Given the description of an element on the screen output the (x, y) to click on. 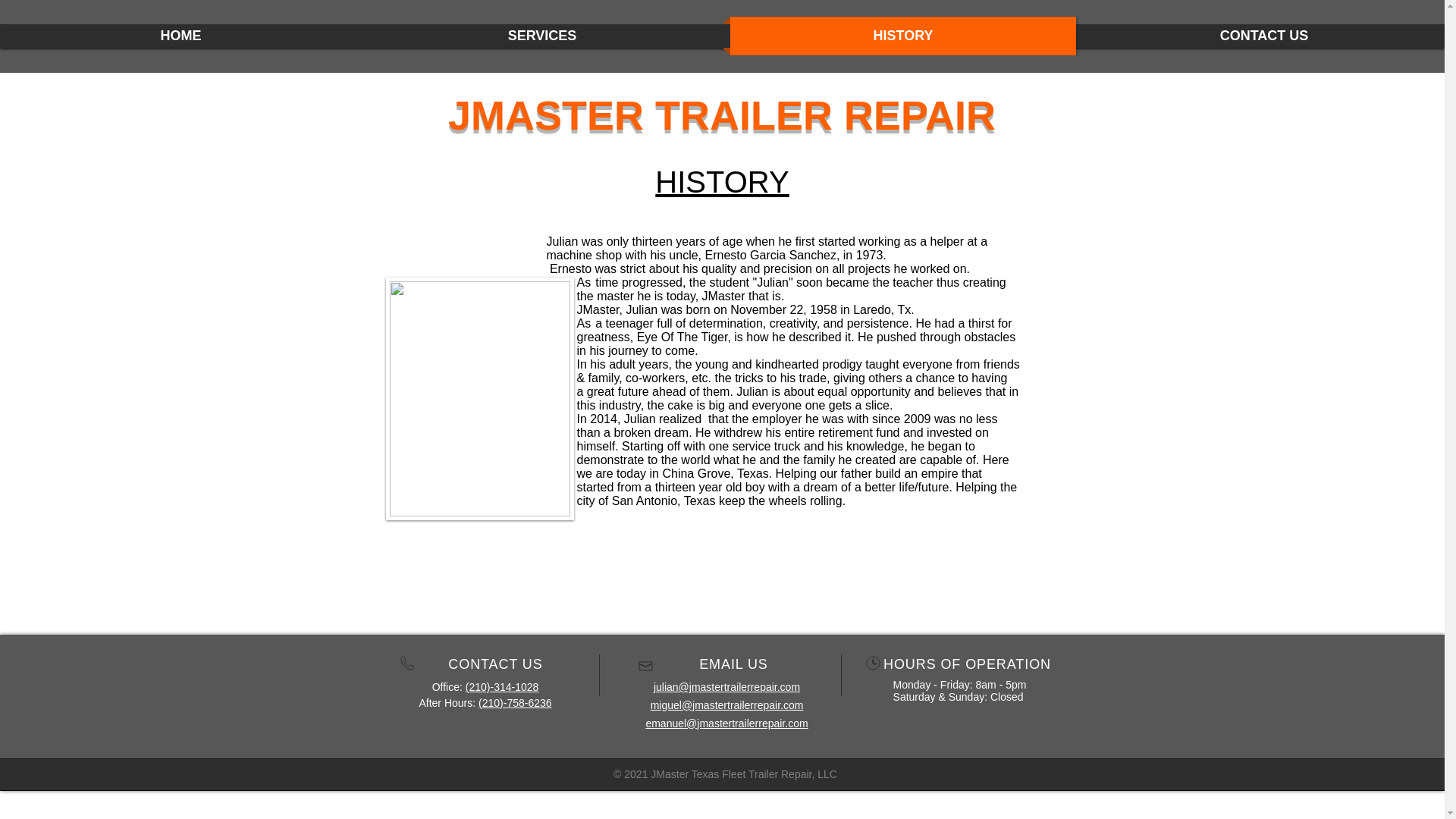
HISTORY (902, 35)
SERVICES (541, 35)
JMASTER TRAILER REPAIR (721, 115)
HOME (180, 35)
